Given the description of an element on the screen output the (x, y) to click on. 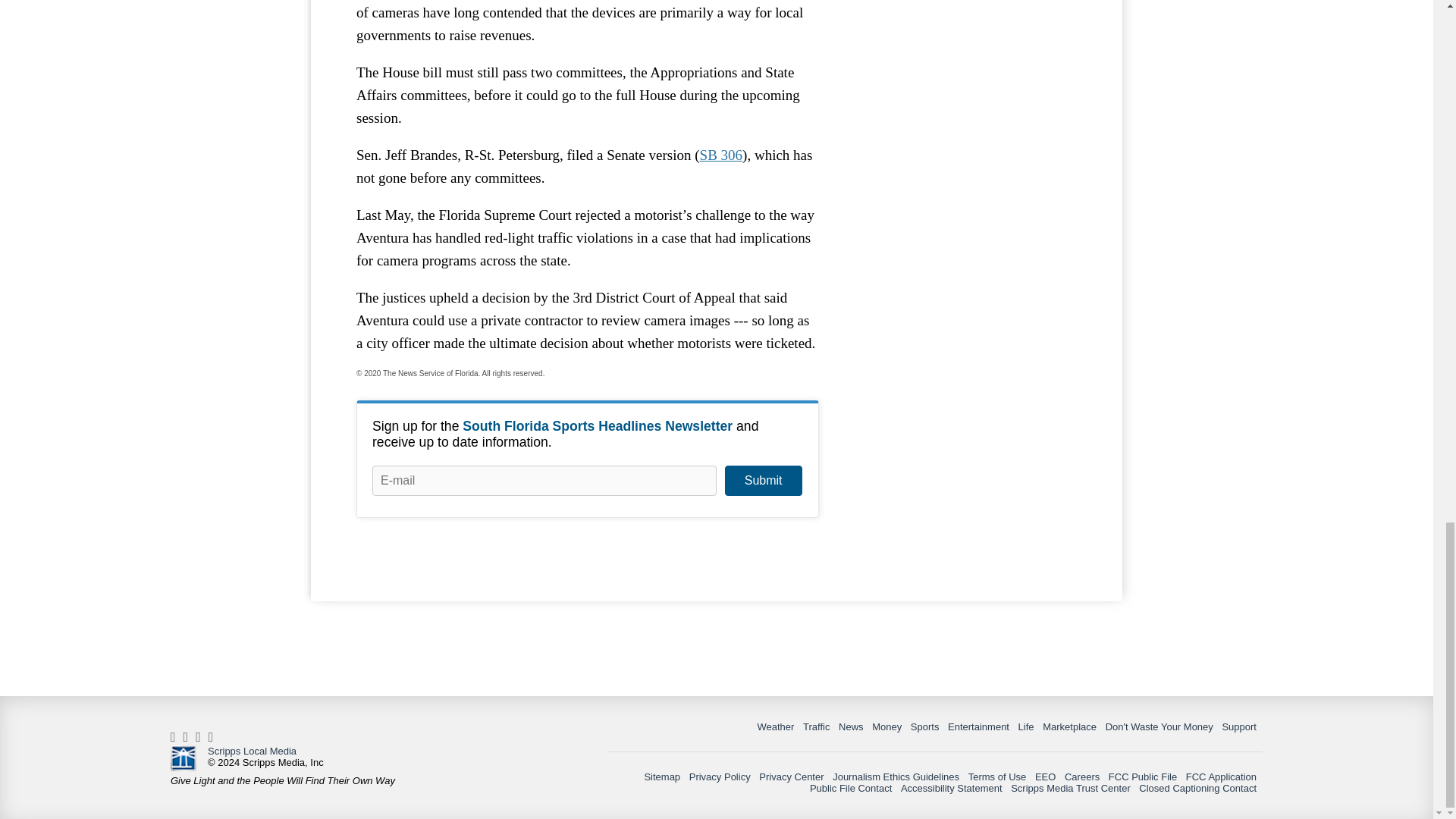
Submit (763, 481)
